Given the description of an element on the screen output the (x, y) to click on. 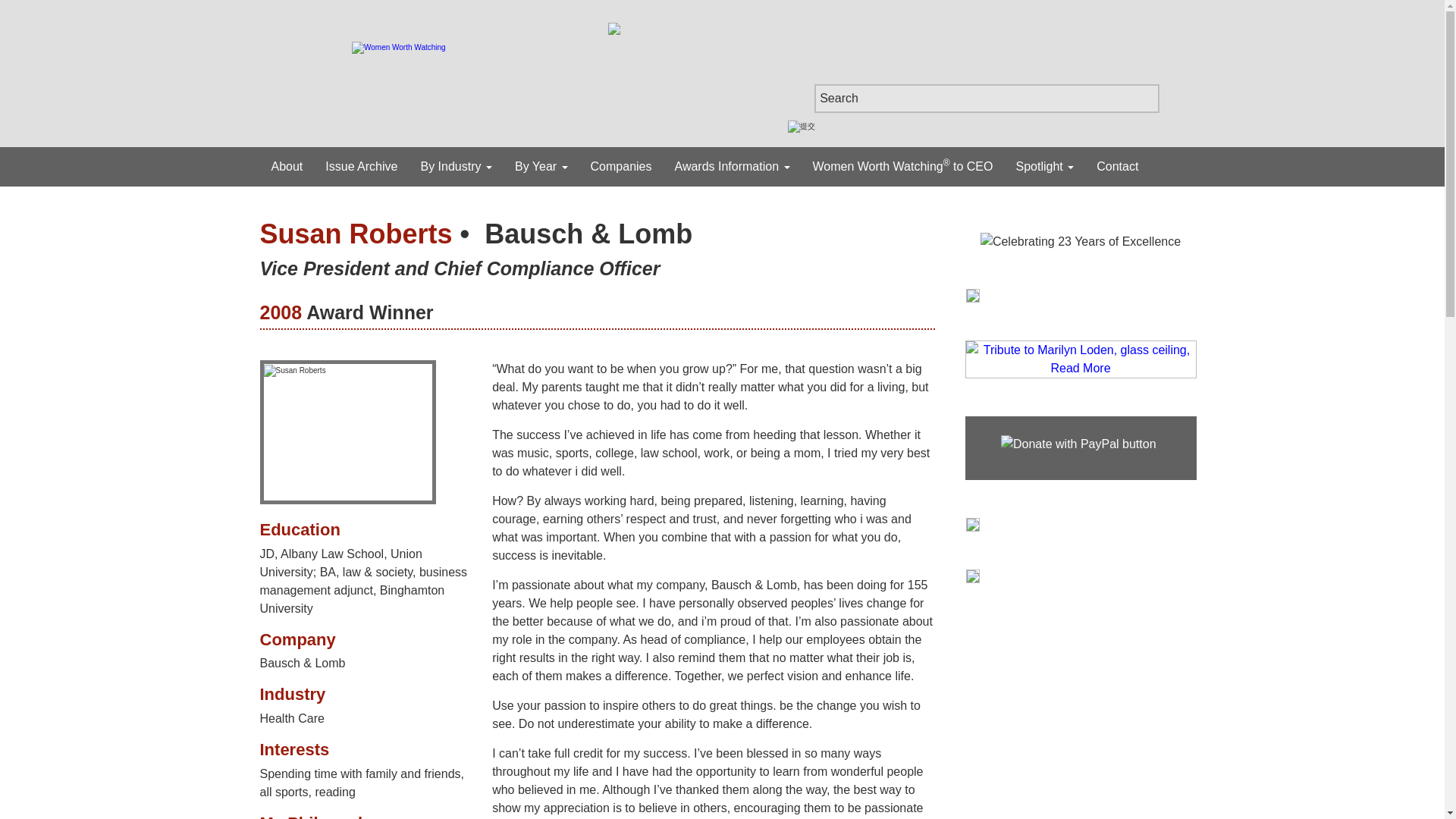
About (286, 166)
By Year (541, 166)
By Industry (455, 166)
Issue Archive (361, 166)
Search (985, 98)
Search (985, 98)
By Industry (455, 166)
Issue Archive (361, 166)
About (286, 166)
